Given the description of an element on the screen output the (x, y) to click on. 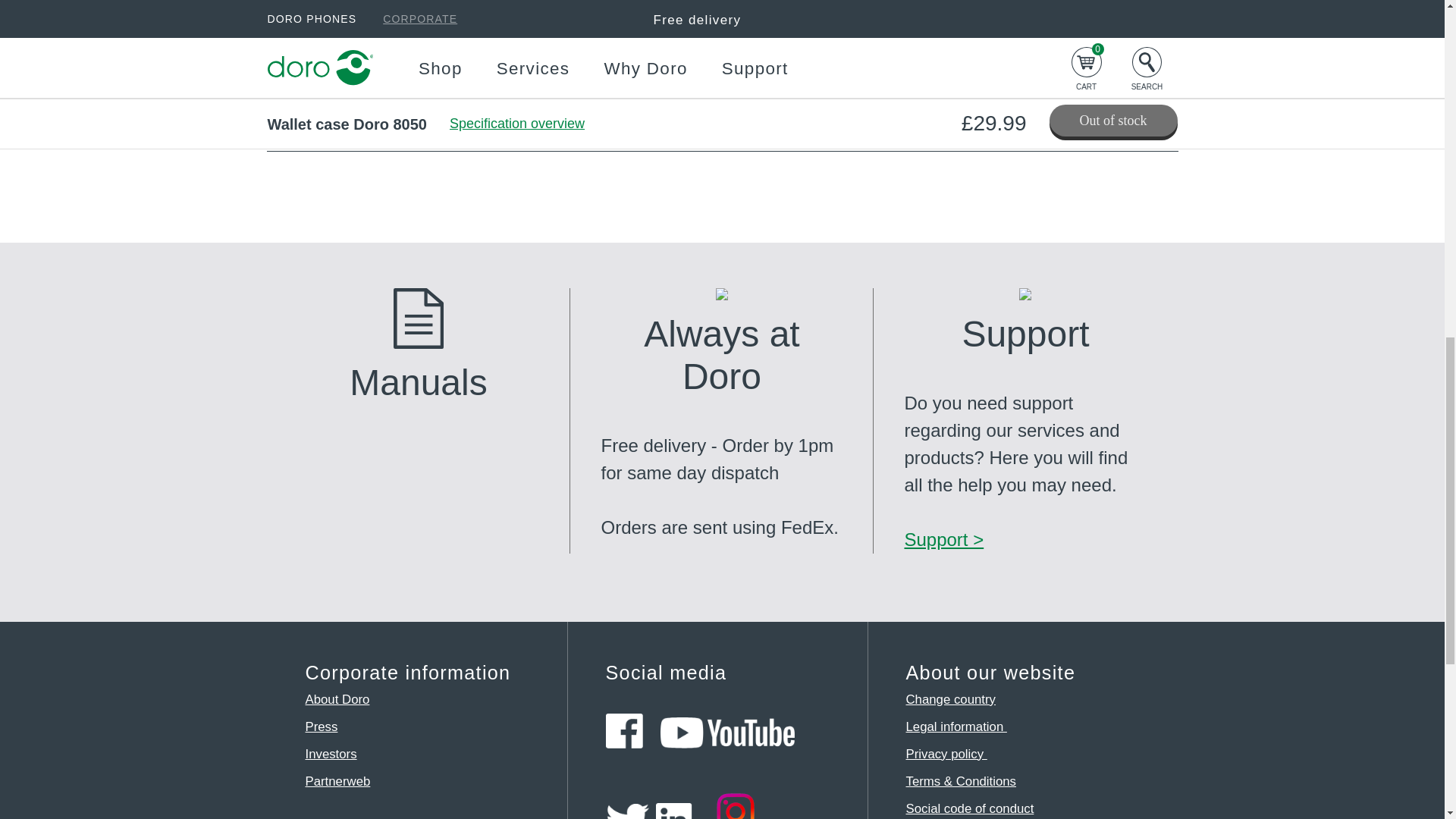
Support (944, 539)
